Given the description of an element on the screen output the (x, y) to click on. 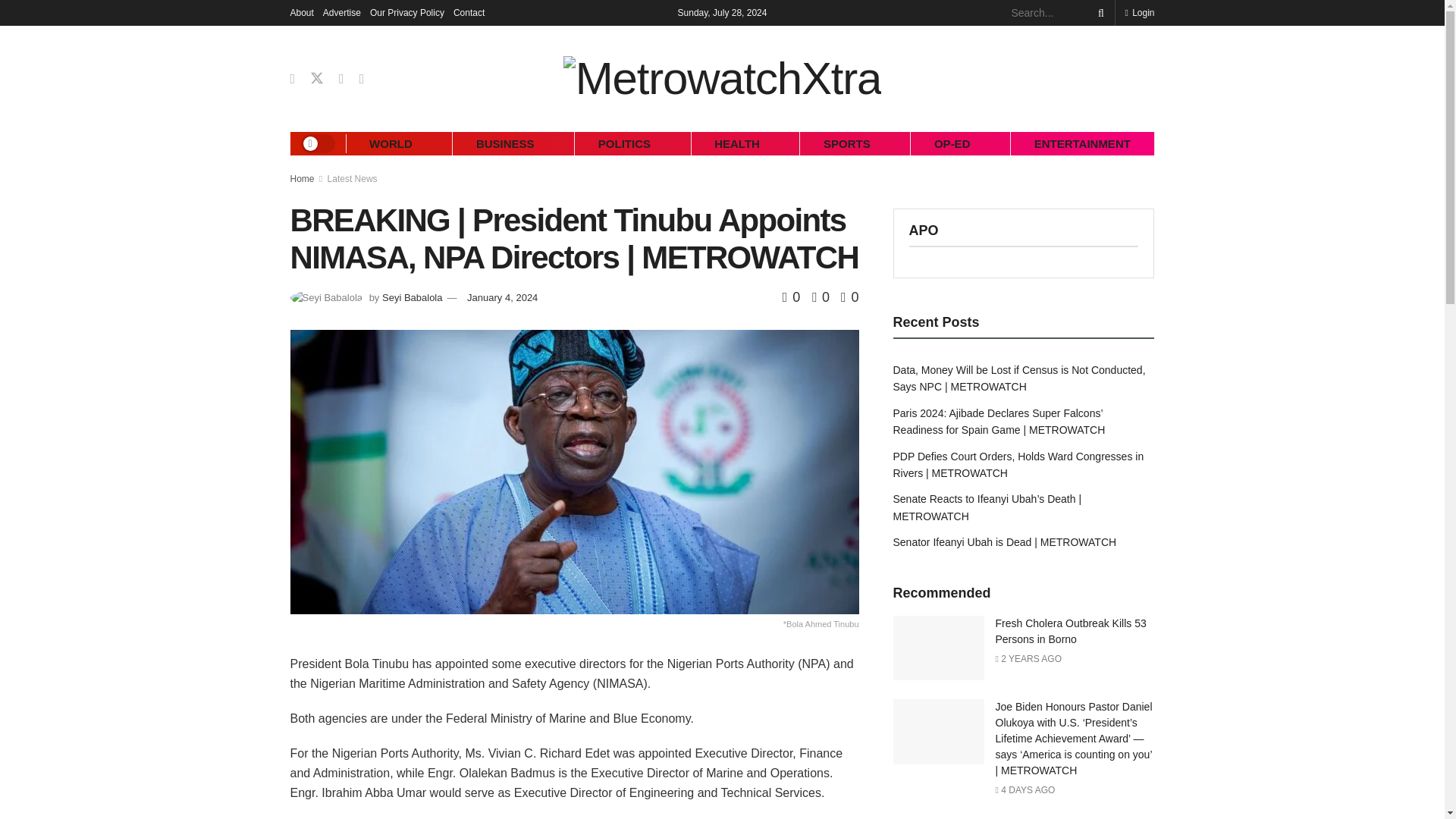
POLITICS (623, 143)
0 (794, 296)
Advertise (342, 12)
Home (301, 178)
Login (1139, 12)
0 (816, 296)
HEALTH (737, 143)
Contact (468, 12)
BUSINESS (504, 143)
SPORTS (846, 143)
Latest News (352, 178)
0 (850, 296)
OP-ED (951, 143)
ENTERTAINMENT (1081, 143)
WORLD (390, 143)
